Given the description of an element on the screen output the (x, y) to click on. 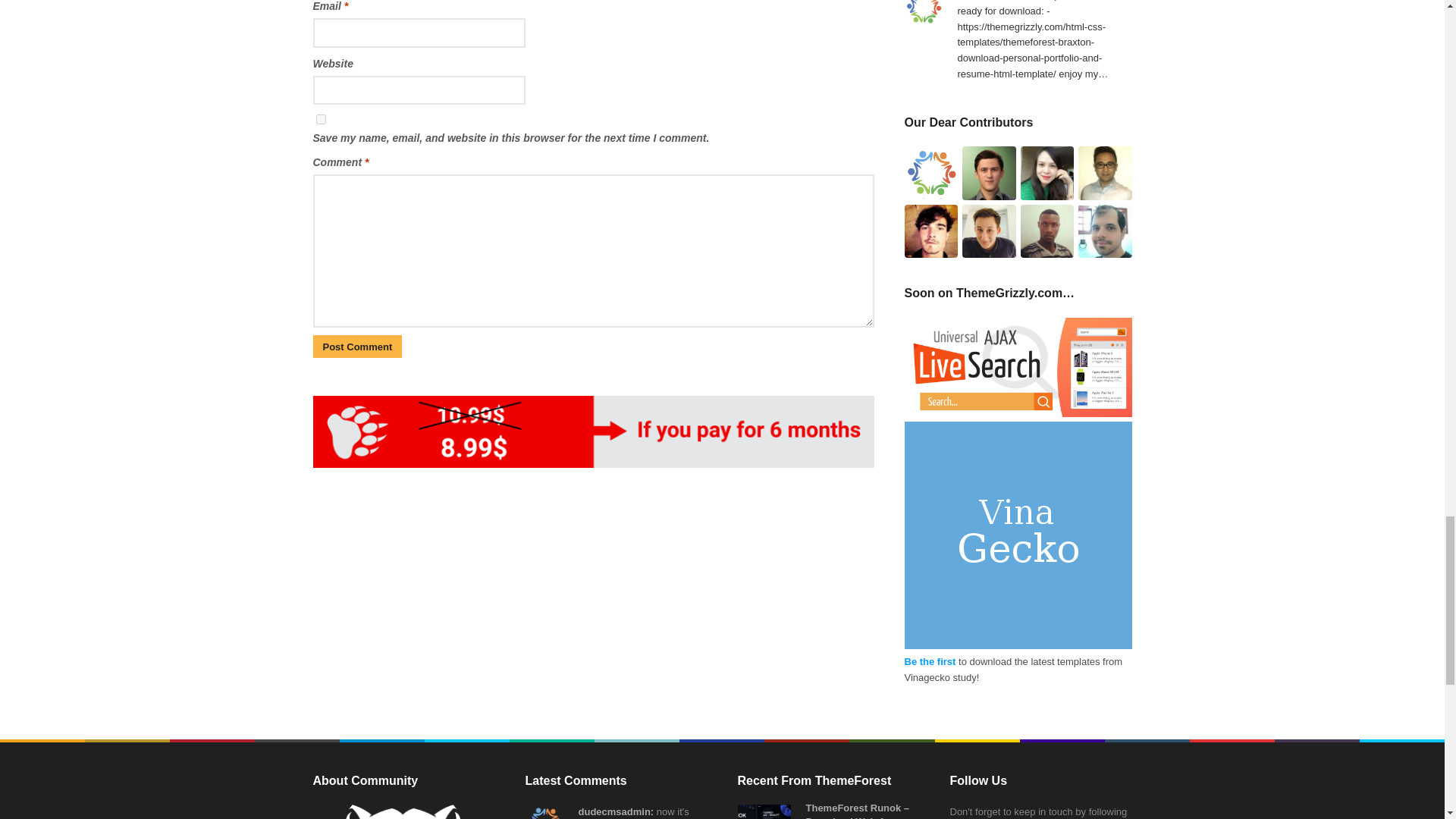
Post Comment (357, 346)
yes (319, 119)
